Given the description of an element on the screen output the (x, y) to click on. 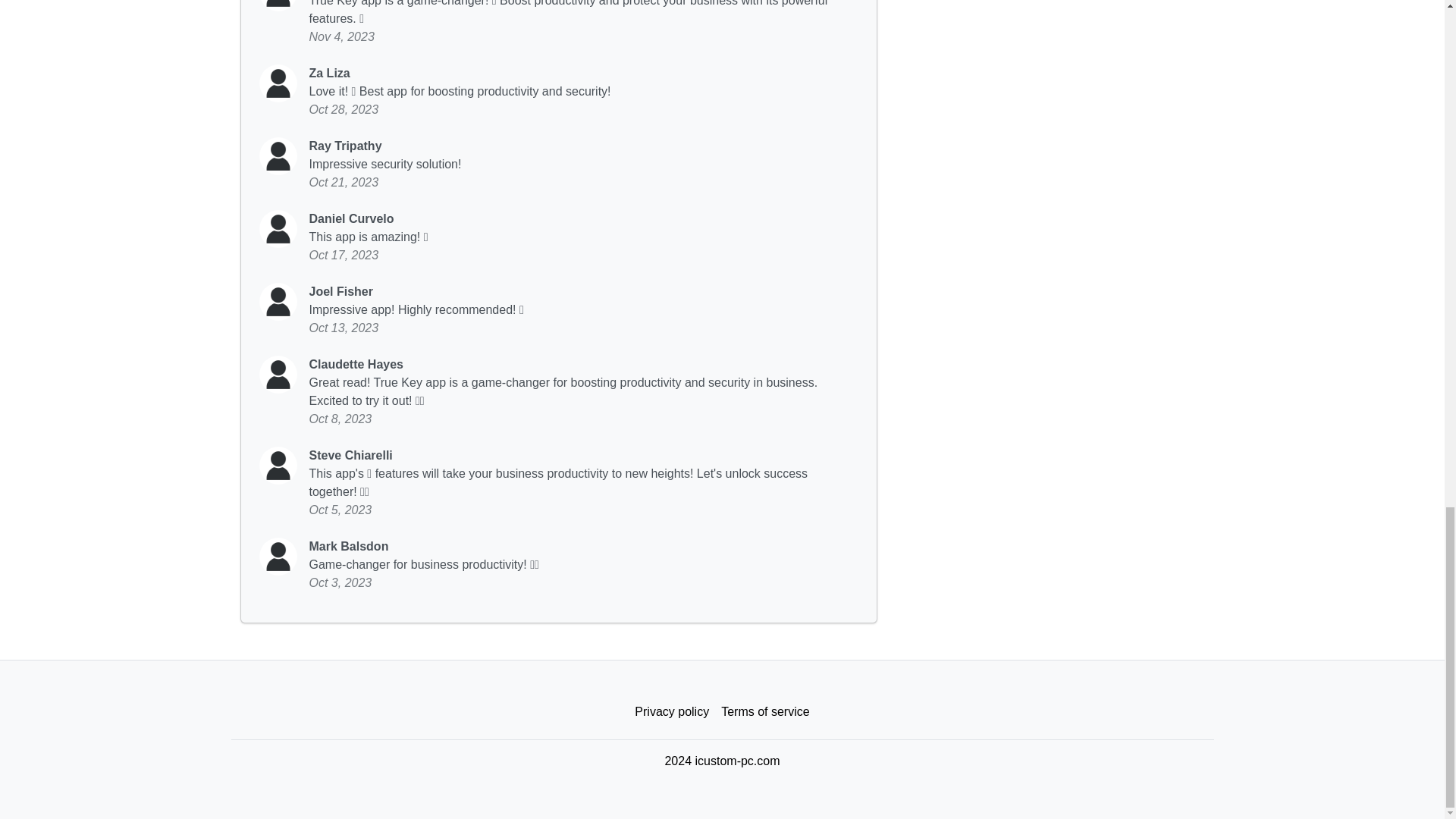
Privacy policy (671, 711)
Terms of service (764, 711)
